Given the description of an element on the screen output the (x, y) to click on. 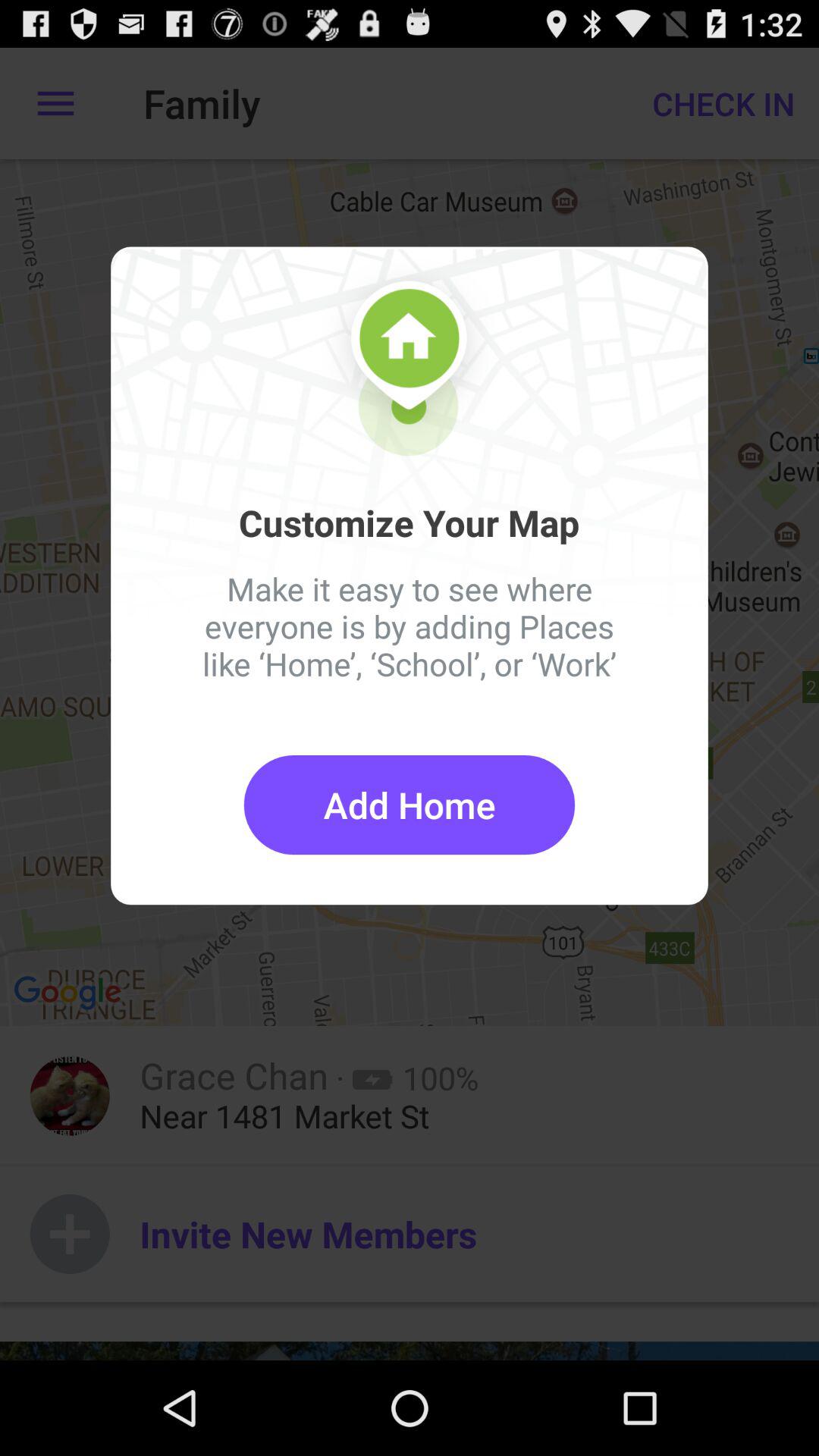
swipe until the add home icon (409, 804)
